Given the description of an element on the screen output the (x, y) to click on. 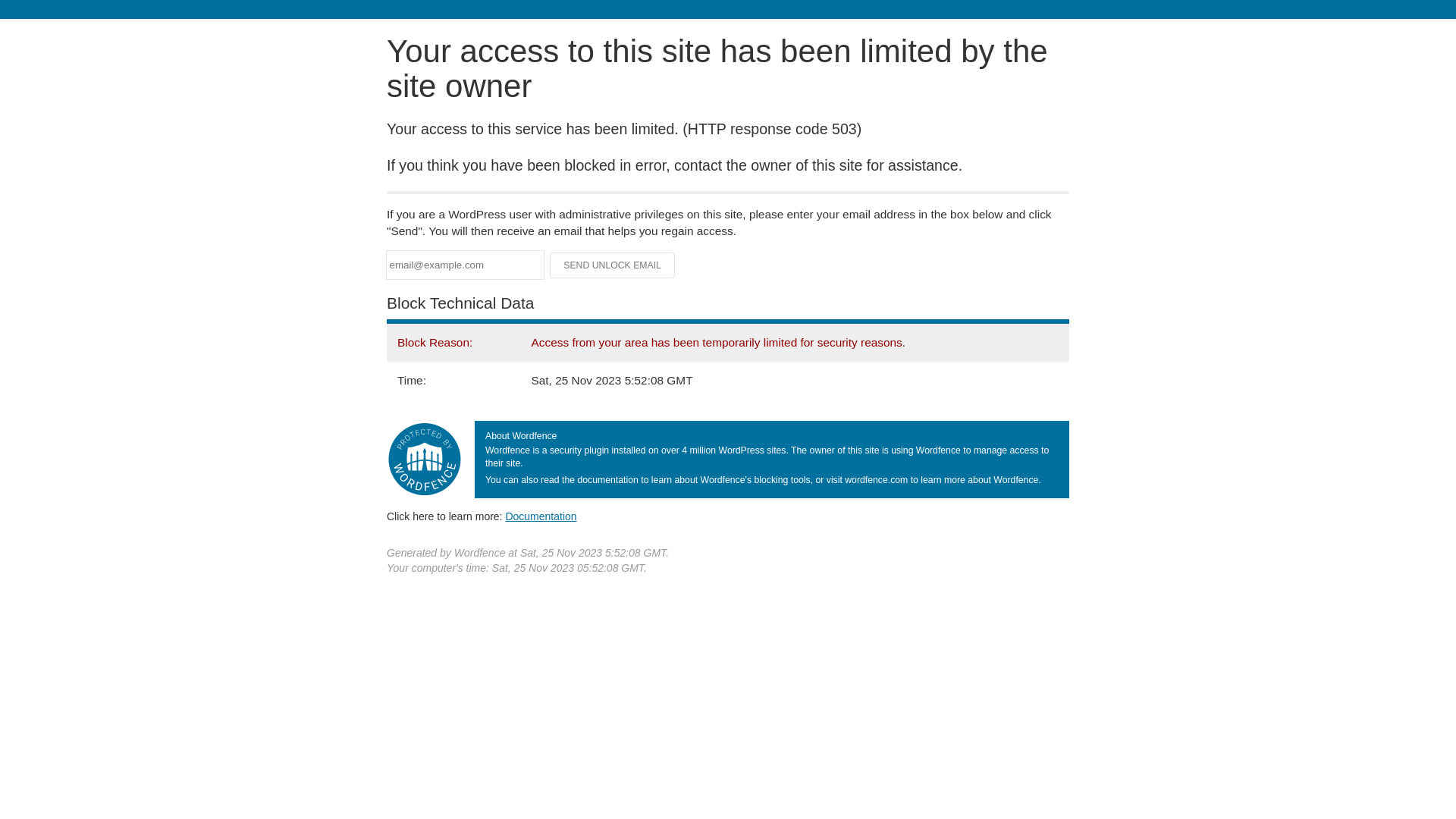
Send Unlock Email Element type: text (612, 265)
Documentation Element type: text (540, 516)
